Given the description of an element on the screen output the (x, y) to click on. 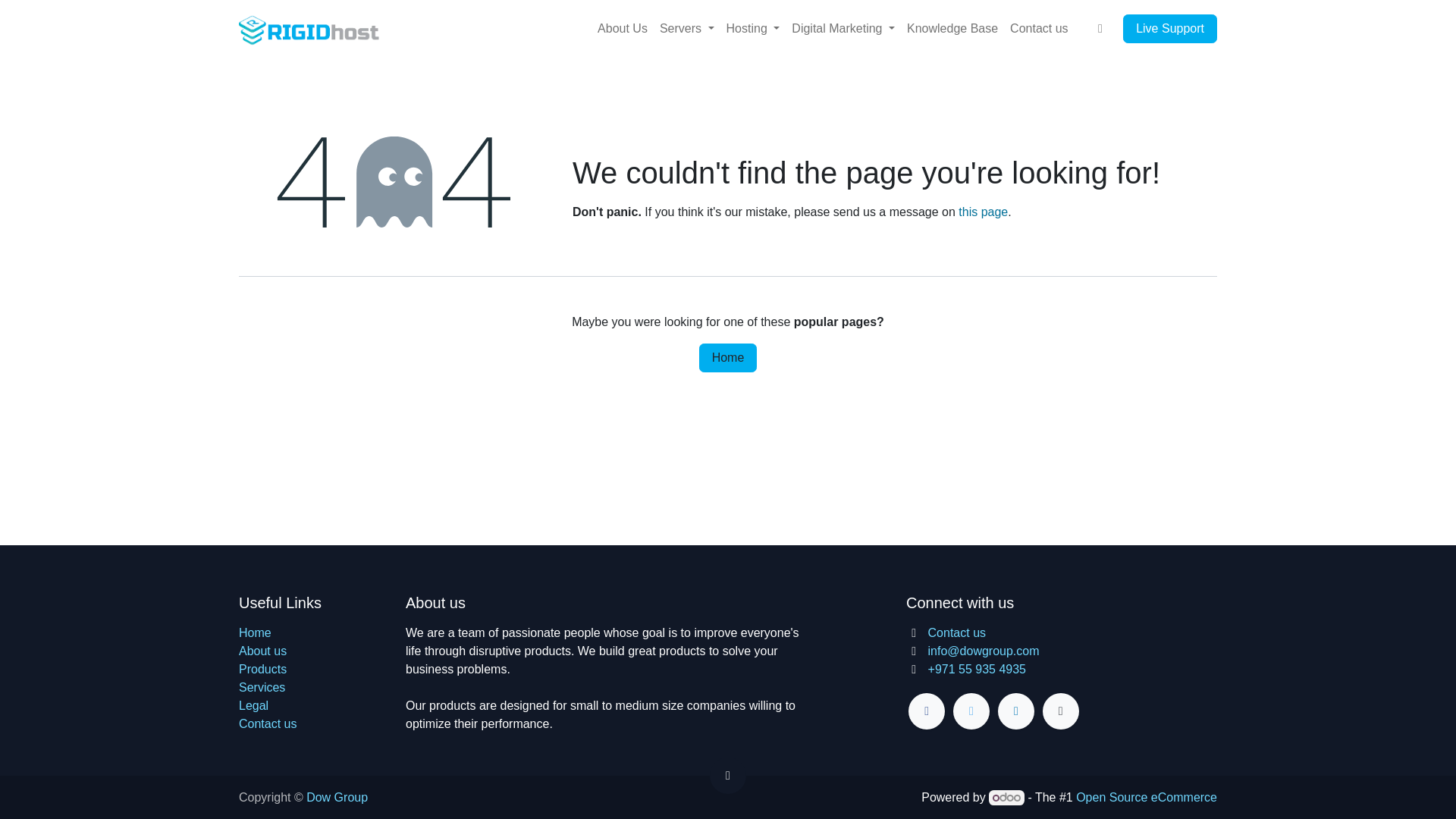
Contact us (1039, 28)
Live Support (1169, 28)
About Us (622, 28)
Hosting (753, 28)
Scroll To Top (727, 775)
Digital Marketing (843, 28)
Knowledge Base (952, 28)
rigidhost (313, 28)
Servers (686, 28)
